Given the description of an element on the screen output the (x, y) to click on. 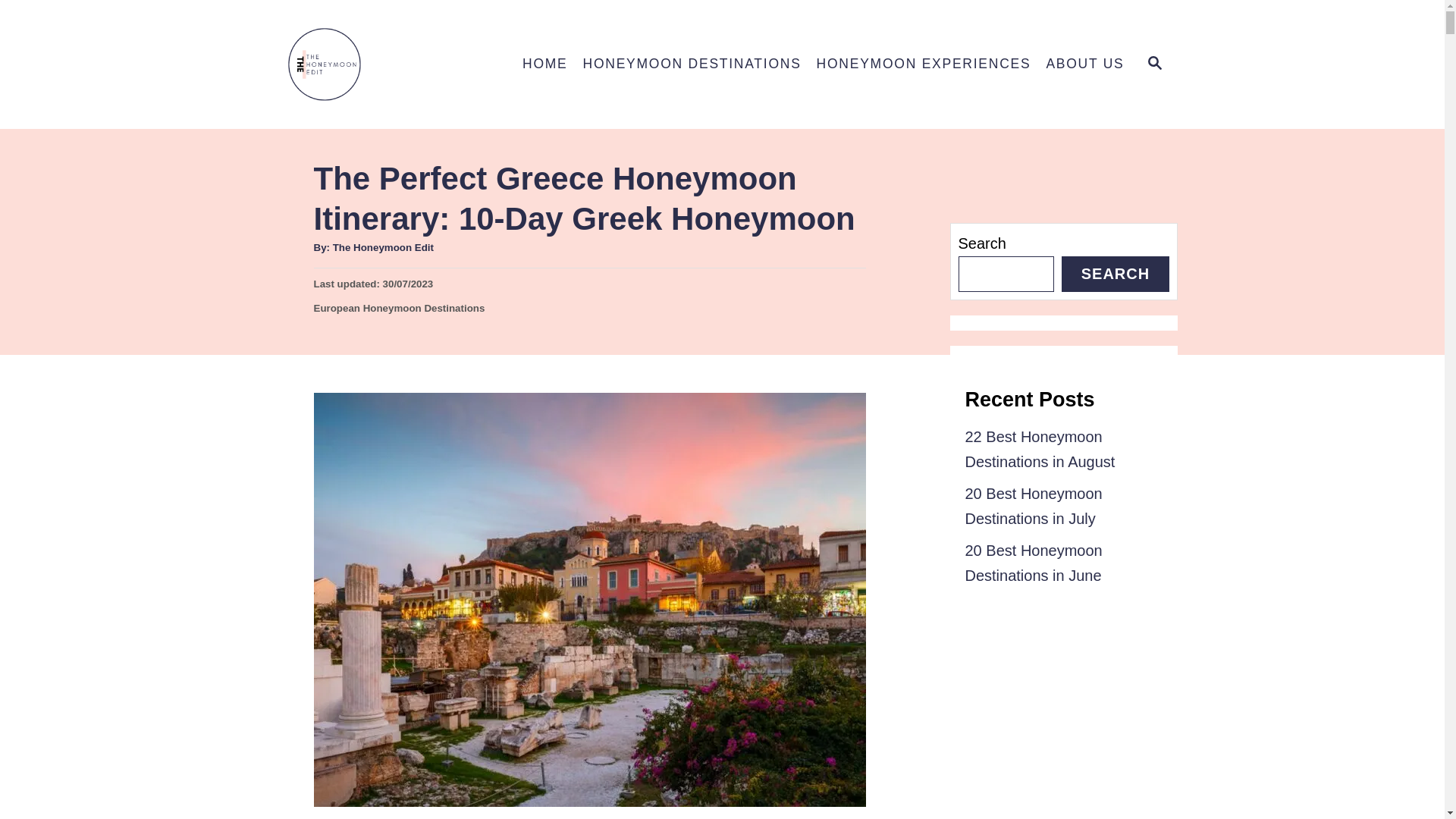
The Honeymoon Edit (384, 64)
HOME (545, 64)
The Honeymoon Edit (383, 247)
HONEYMOON EXPERIENCES (1154, 63)
HONEYMOON DESTINATIONS (924, 64)
European Honeymoon Destinations (692, 64)
ABOUT US (399, 307)
MAGNIFYING GLASS (1084, 64)
